Given the description of an element on the screen output the (x, y) to click on. 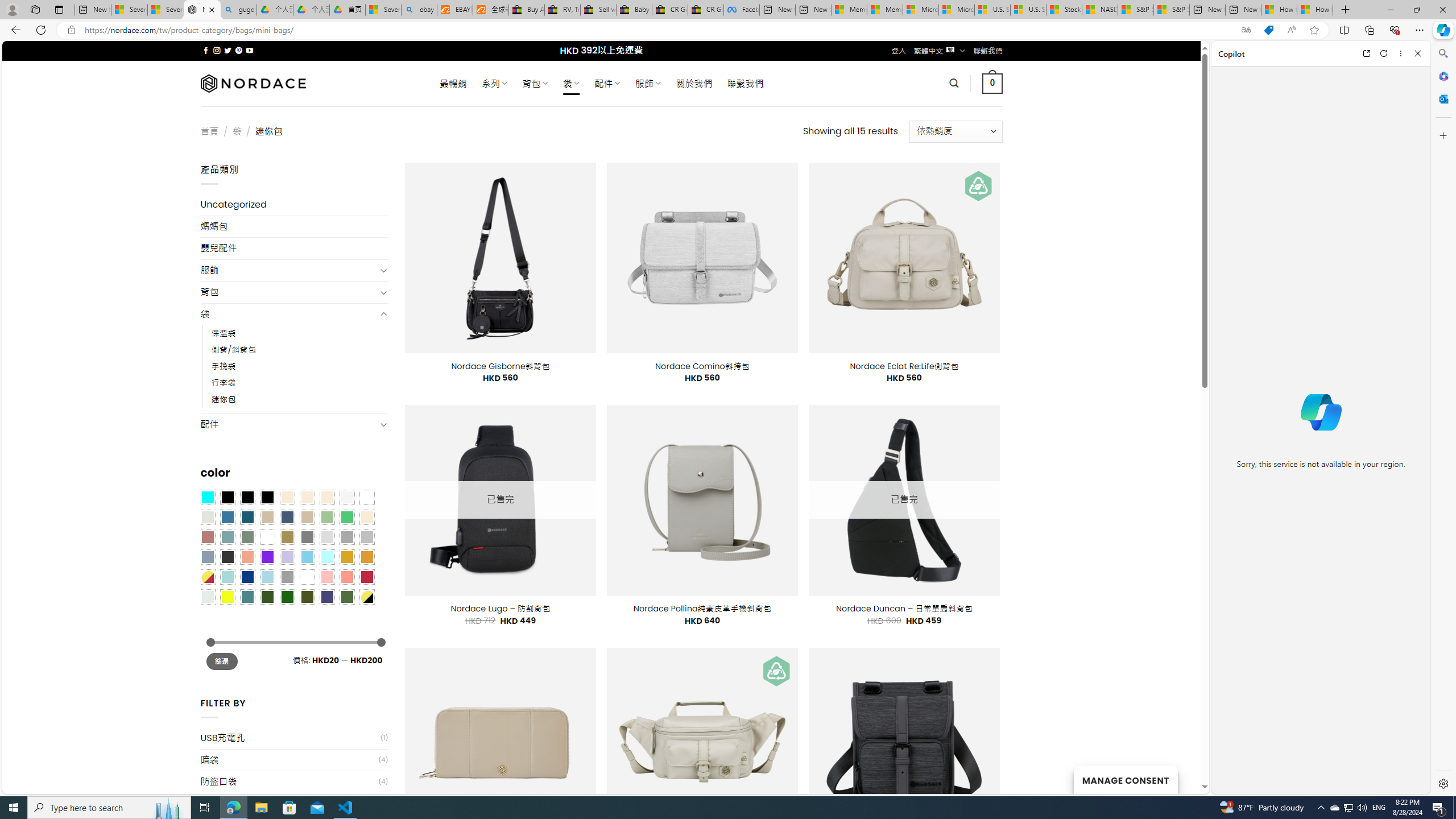
Refresh (1383, 53)
Close (1417, 53)
RV, Trailer & Camper Steps & Ladders for sale | eBay (562, 9)
Customize (1442, 135)
App bar (728, 29)
